Given the description of an element on the screen output the (x, y) to click on. 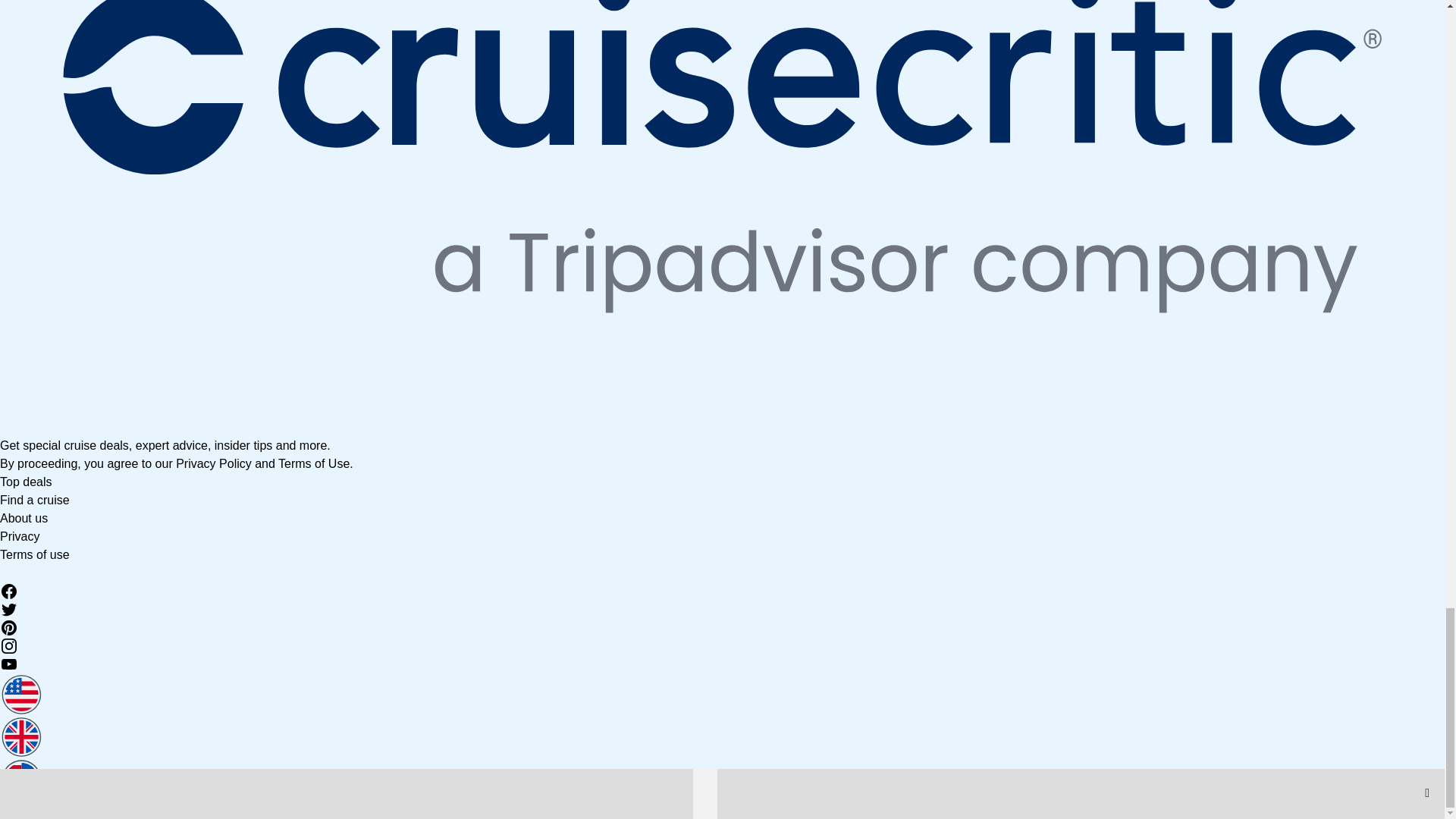
Privacy Policy (213, 463)
Find a cruise (34, 499)
Terms of Use (313, 463)
Top deals (26, 481)
